Given the description of an element on the screen output the (x, y) to click on. 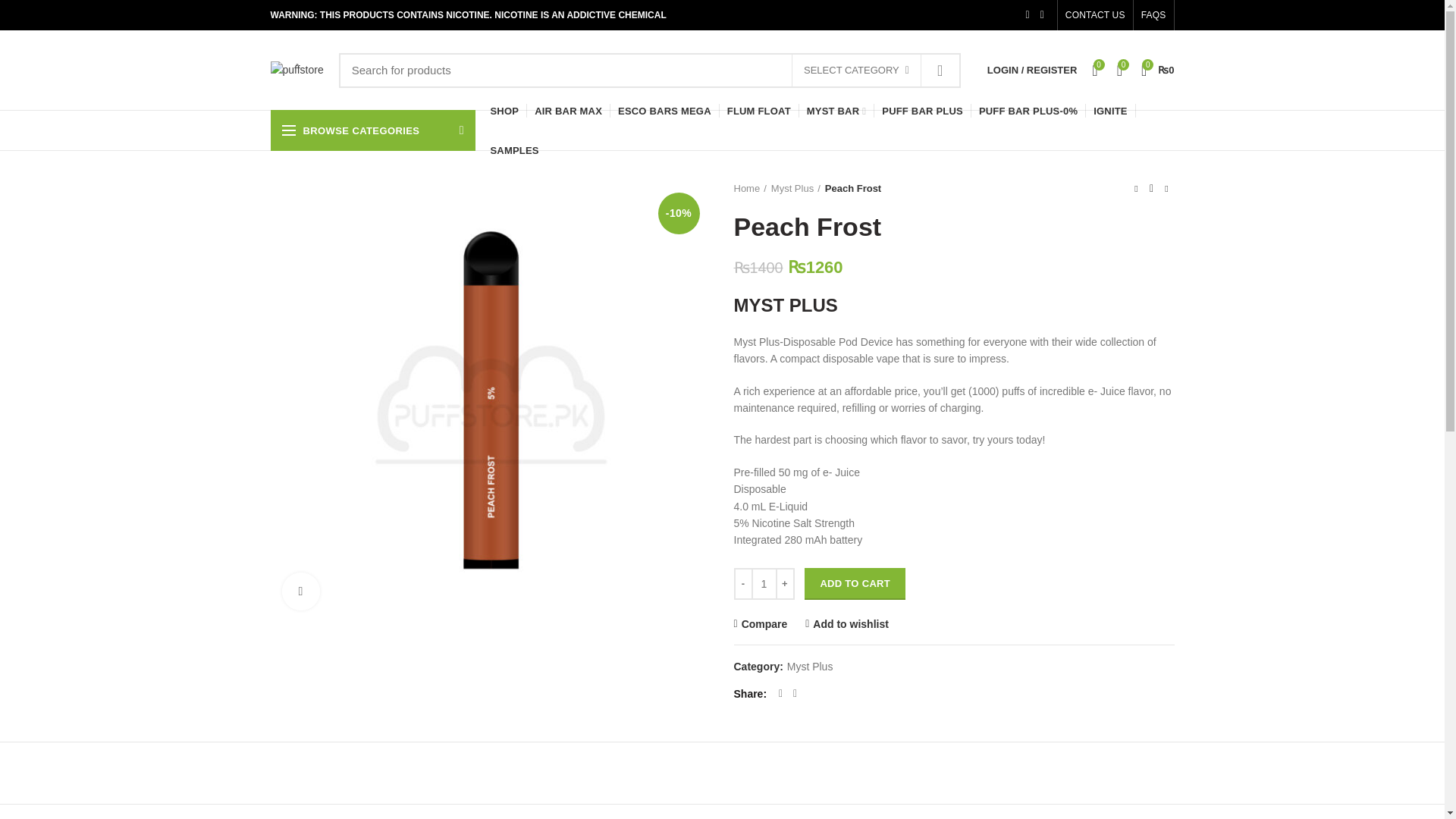
SEARCH (940, 70)
Shopping cart (1158, 69)
FAQS (1153, 15)
SELECT CATEGORY (856, 70)
SELECT CATEGORY (856, 70)
CONTACT US (1095, 15)
My account (1031, 69)
